Given the description of an element on the screen output the (x, y) to click on. 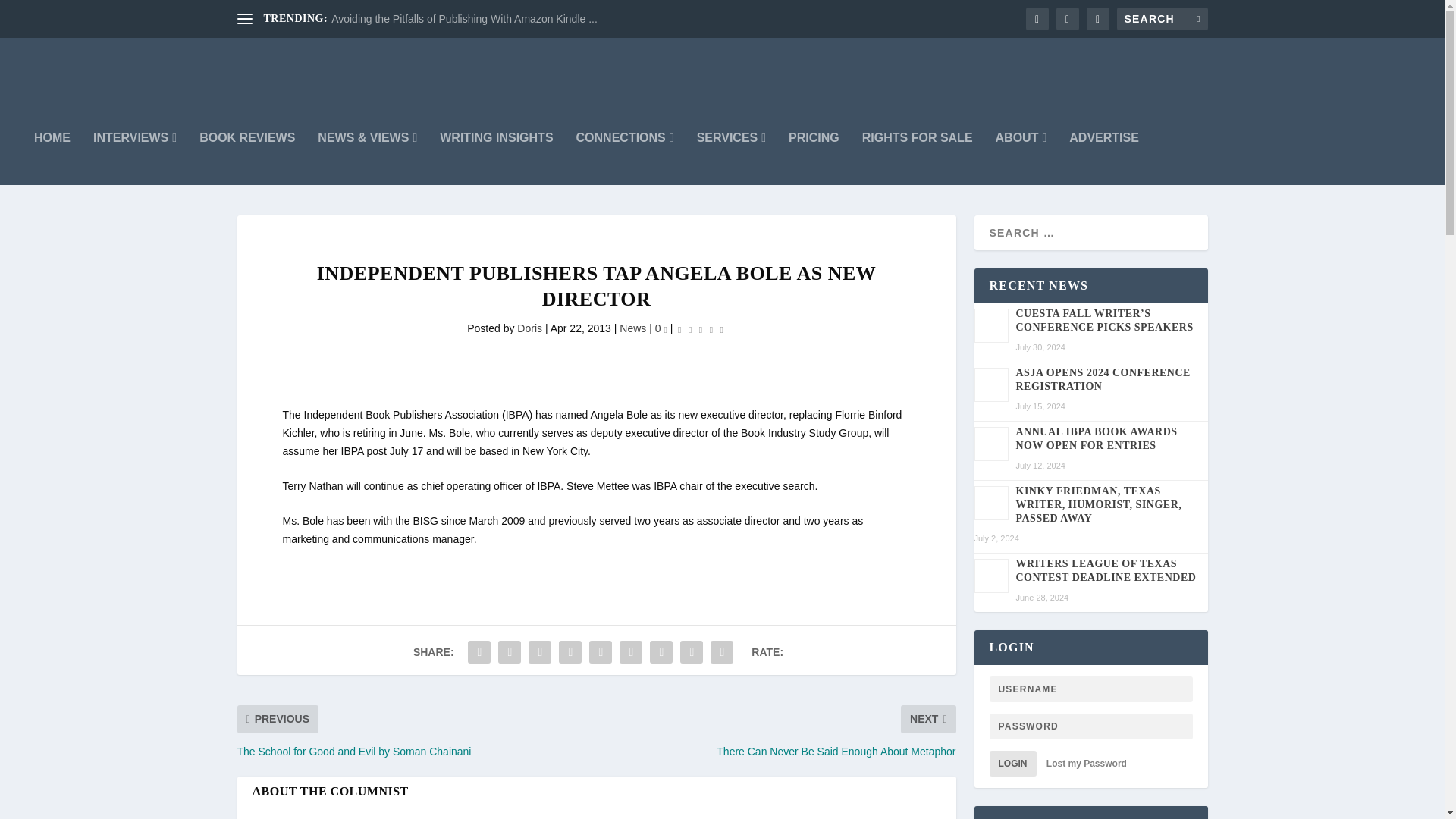
PRICING (814, 158)
Avoiding the Pitfalls of Publishing With Amazon Kindle ... (463, 19)
WRITING INSIGHTS (496, 158)
Posts by Doris (528, 328)
SERVICES (731, 158)
